Given the description of an element on the screen output the (x, y) to click on. 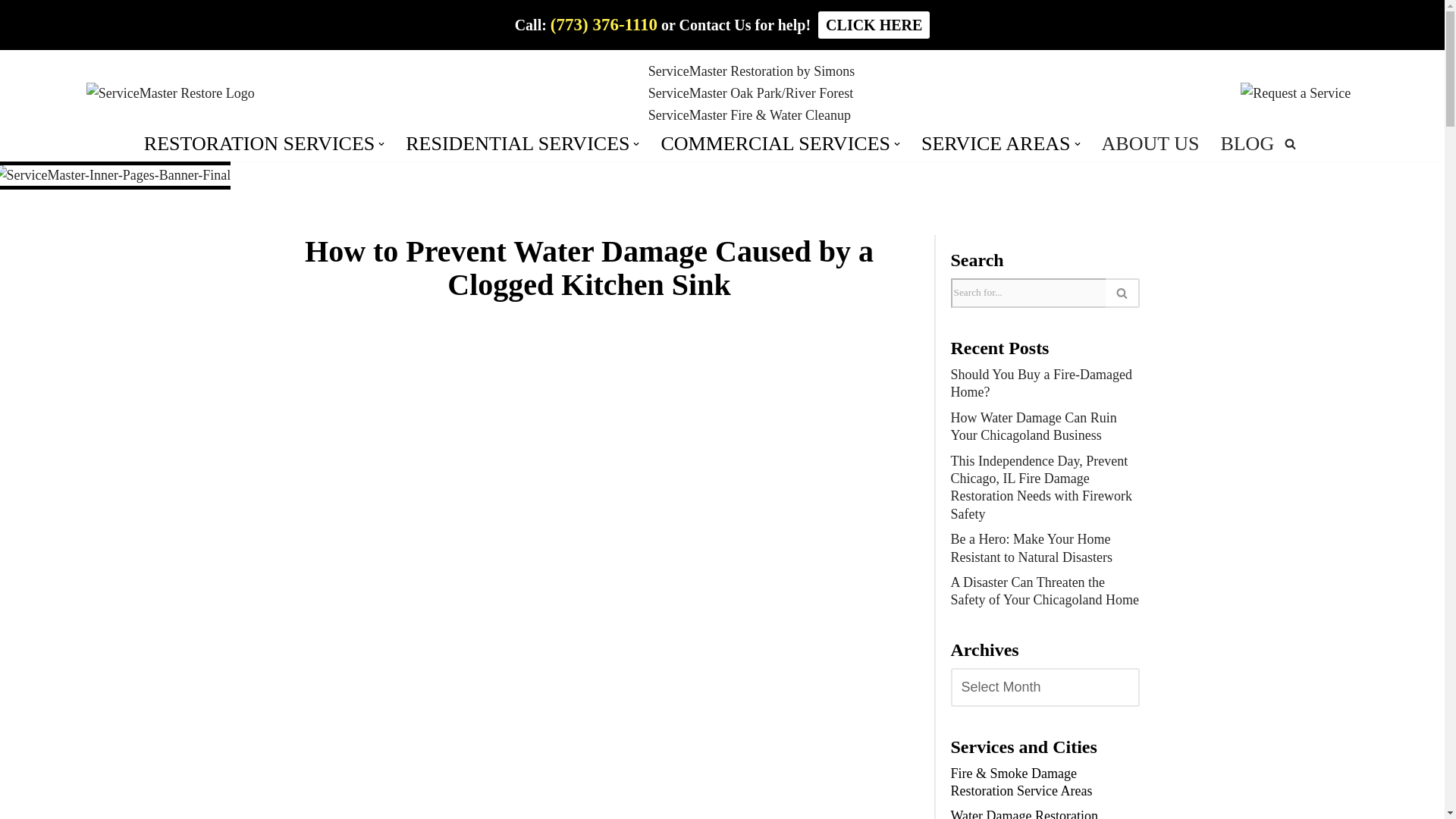
Skip to content (11, 31)
COMMERCIAL SERVICES (775, 143)
CLICK HERE (874, 24)
RESTORATION SERVICES (259, 143)
RESIDENTIAL SERVICES (517, 143)
